Given the description of an element on the screen output the (x, y) to click on. 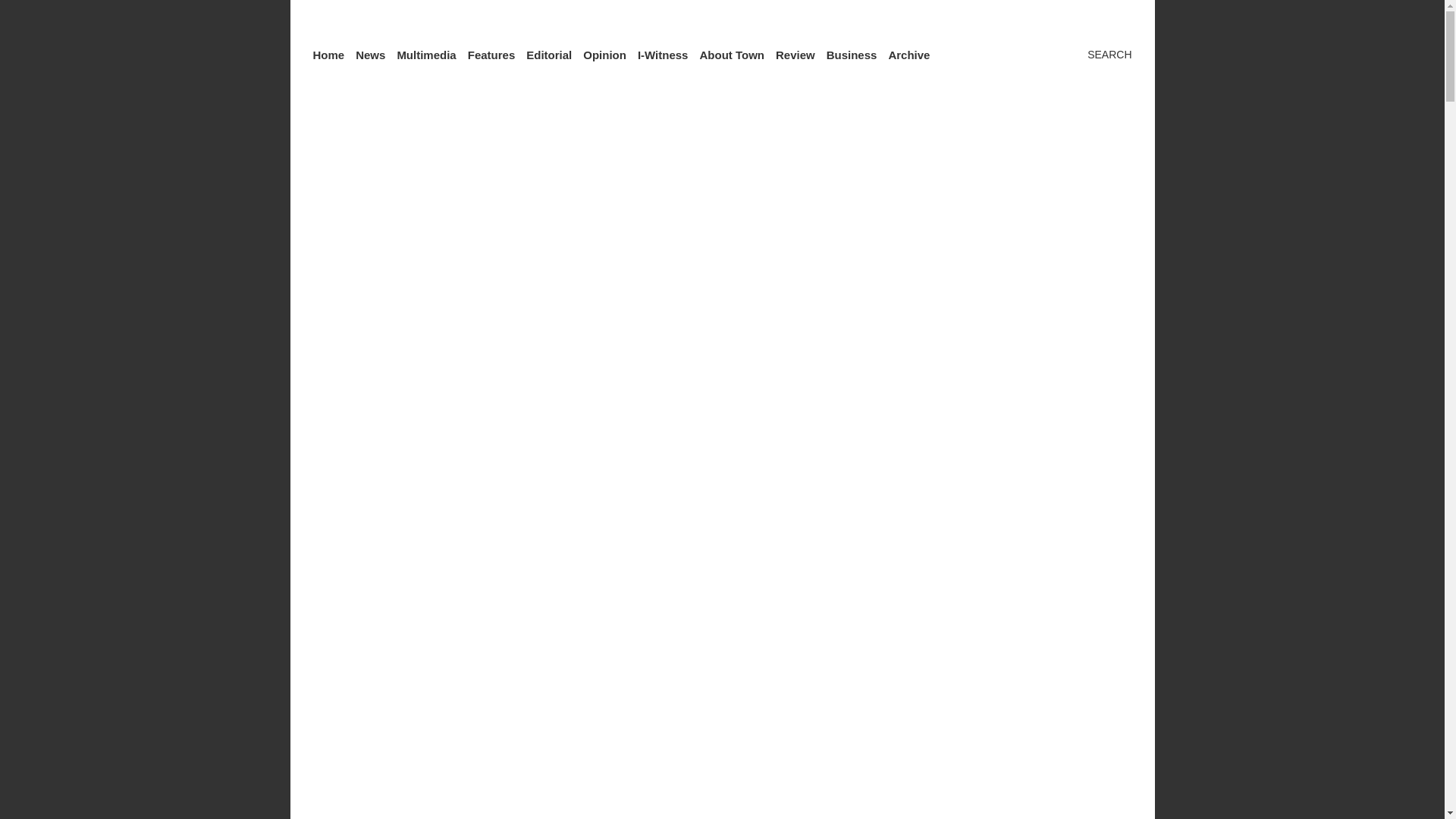
Home (328, 54)
Opinion (604, 54)
I-Witness (662, 54)
About Town (731, 54)
Features (491, 54)
SEARCH (1096, 55)
Archive (909, 54)
Editorial (548, 54)
Review (795, 54)
News (370, 54)
